Given the description of an element on the screen output the (x, y) to click on. 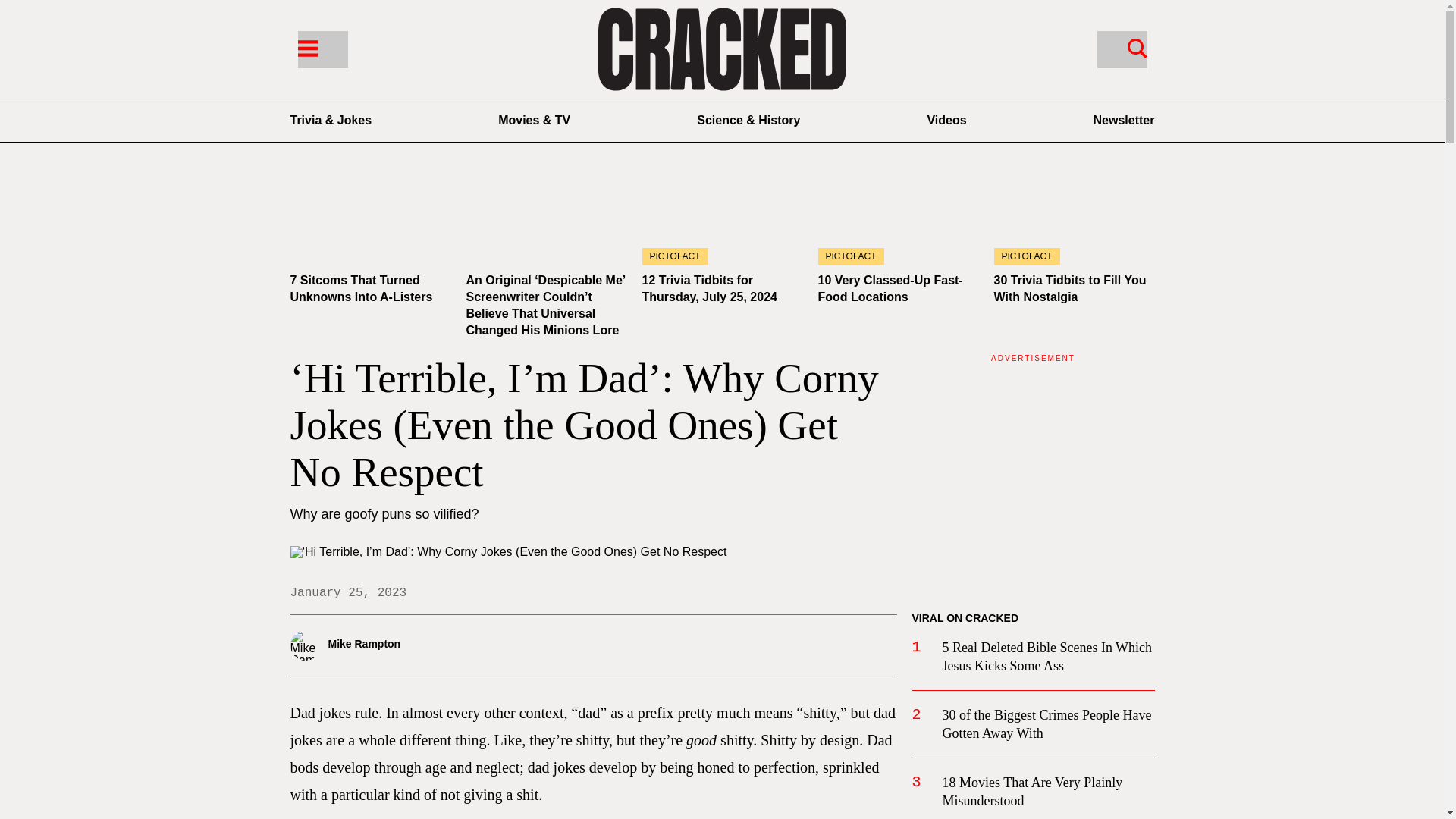
Cracked Newsletter (1123, 119)
7 Sitcoms That Turned Unknowns Into A-Listers (369, 219)
10 Very Classed-Up Fast-Food Locations (889, 288)
7 Sitcoms That Turned Unknowns Into A-Listers (360, 288)
PICTOFACT (897, 219)
Menu (322, 48)
Search (1136, 47)
PICTOFACT (1073, 219)
Menu (307, 47)
30 Trivia Tidbits to Fill You With Nostalgia (1068, 288)
Search (1121, 48)
Videos (946, 119)
Mike Rampton (387, 644)
PICTOFACT (722, 219)
12 Trivia Tidbits for Thursday, July 25, 2024 (709, 288)
